Given the description of an element on the screen output the (x, y) to click on. 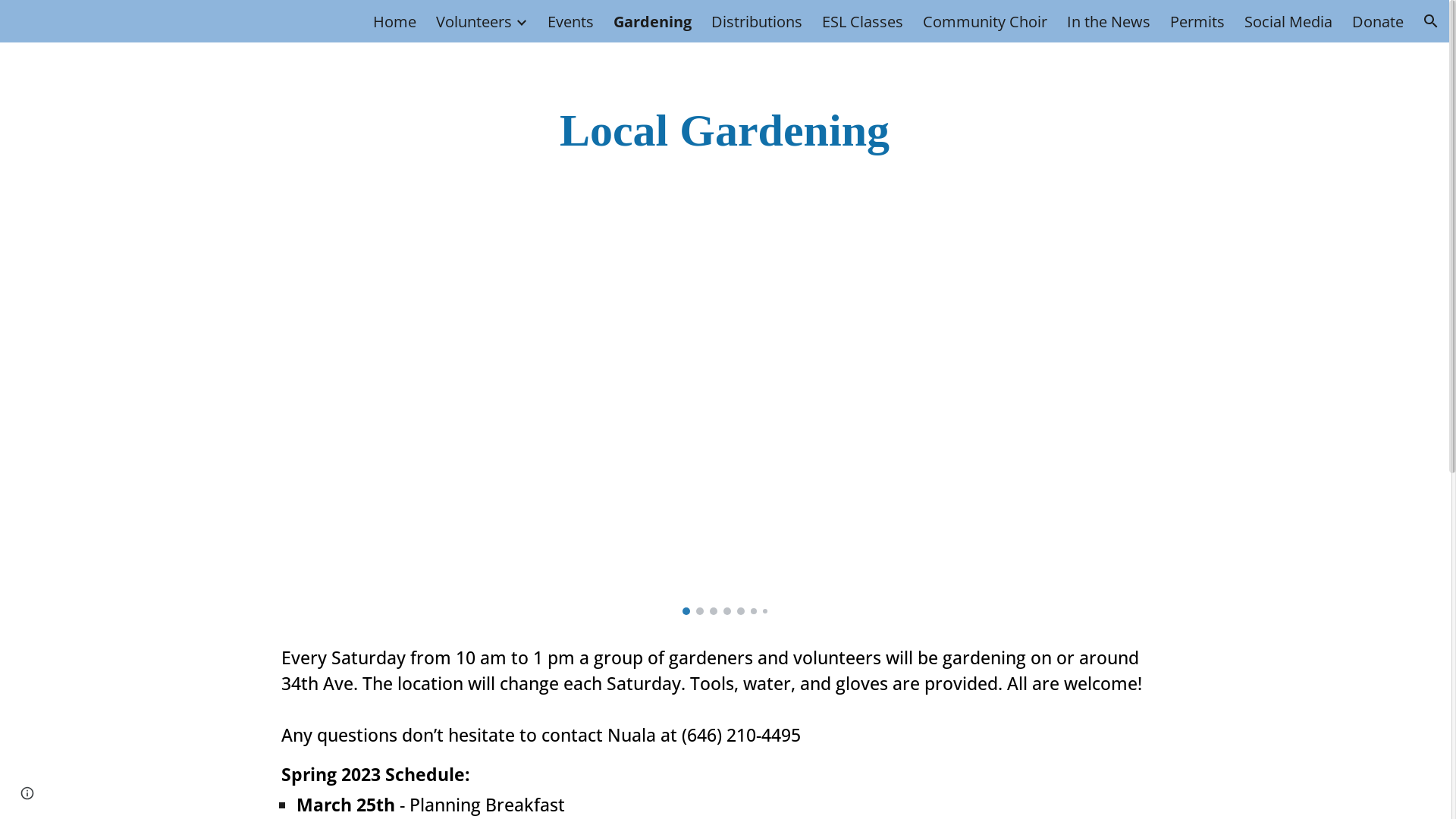
Donate Element type: text (1377, 20)
Community Choir Element type: text (984, 20)
Events Element type: text (570, 20)
Expand/Collapse Element type: hover (520, 20)
Gardening Element type: text (652, 20)
Social Media Element type: text (1288, 20)
Permits Element type: text (1197, 20)
Distributions Element type: text (756, 20)
In the News Element type: text (1108, 20)
ESL Classes Element type: text (862, 20)
Home Element type: text (394, 20)
Volunteers Element type: text (473, 20)
